Given the description of an element on the screen output the (x, y) to click on. 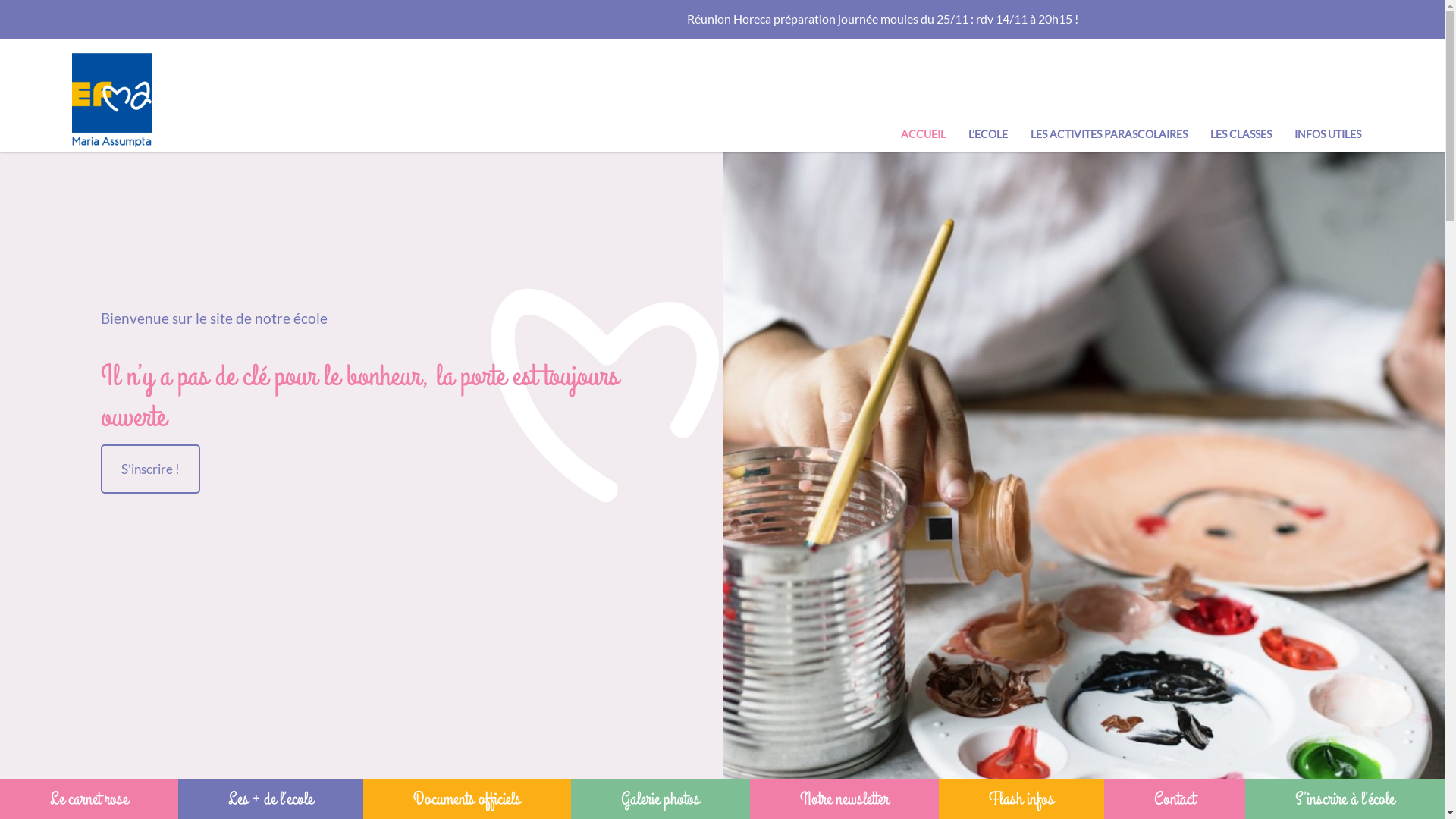
Notre newsletter Element type: text (844, 798)
LES ACTIVITES PARASCOLAIRES Element type: text (1108, 133)
Galerie photos Element type: text (660, 798)
Documents officiels Element type: text (466, 798)
Flash infos Element type: text (1021, 798)
LES CLASSES Element type: text (1240, 133)
Le carnet rose Element type: text (89, 798)
Contact Element type: text (1174, 798)
ACCUEIL Element type: text (923, 133)
INFOS UTILES Element type: text (1327, 133)
